Given the description of an element on the screen output the (x, y) to click on. 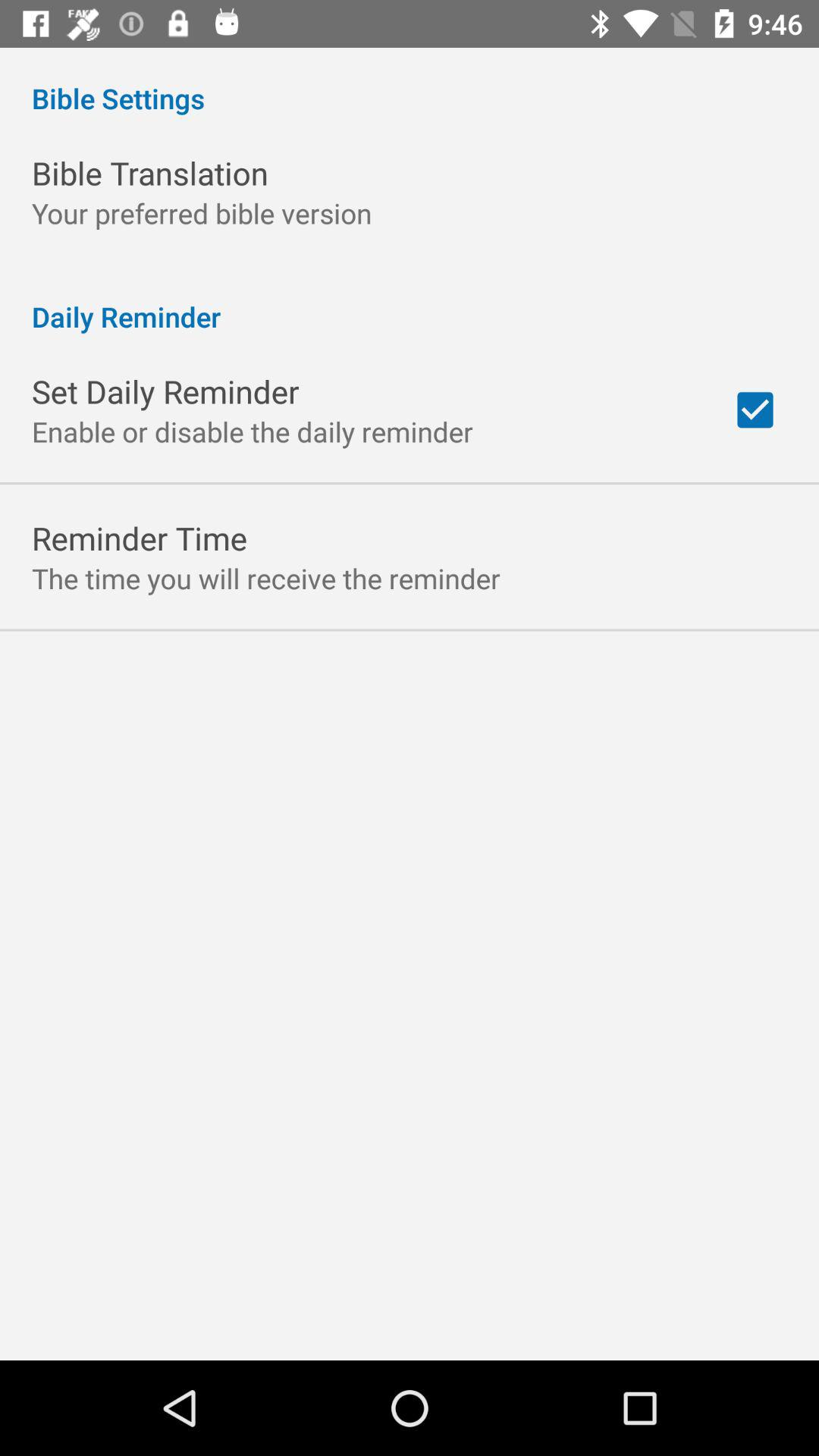
swipe to the enable or disable item (252, 431)
